Given the description of an element on the screen output the (x, y) to click on. 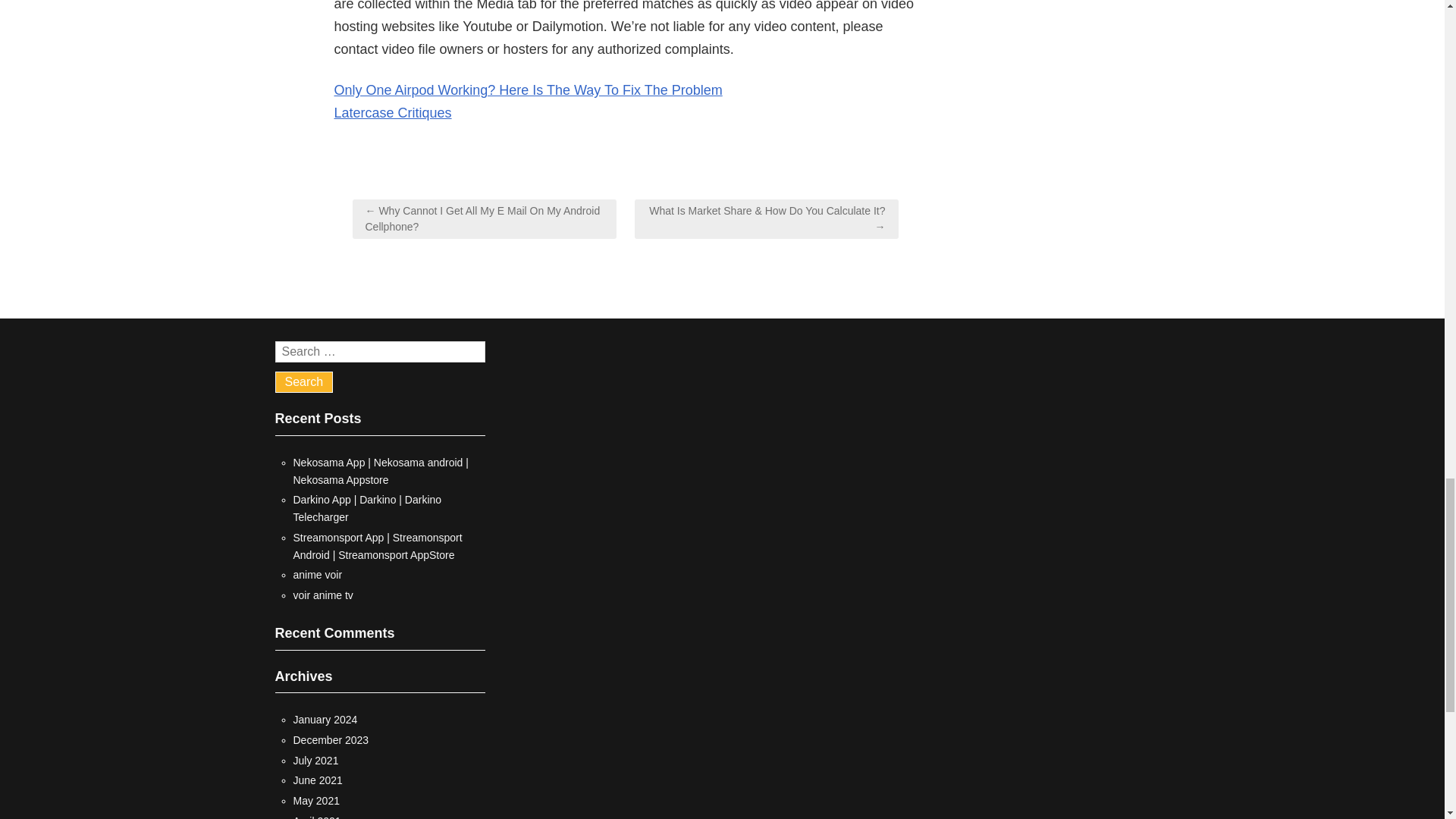
December 2023 (330, 739)
July 2021 (314, 760)
voir anime tv (322, 594)
April 2021 (316, 816)
May 2021 (315, 800)
Latercase Critiques (392, 112)
Only One Airpod Working? Here Is The Way To Fix The Problem (527, 89)
Search (304, 382)
anime voir (317, 574)
Search (304, 382)
